Given the description of an element on the screen output the (x, y) to click on. 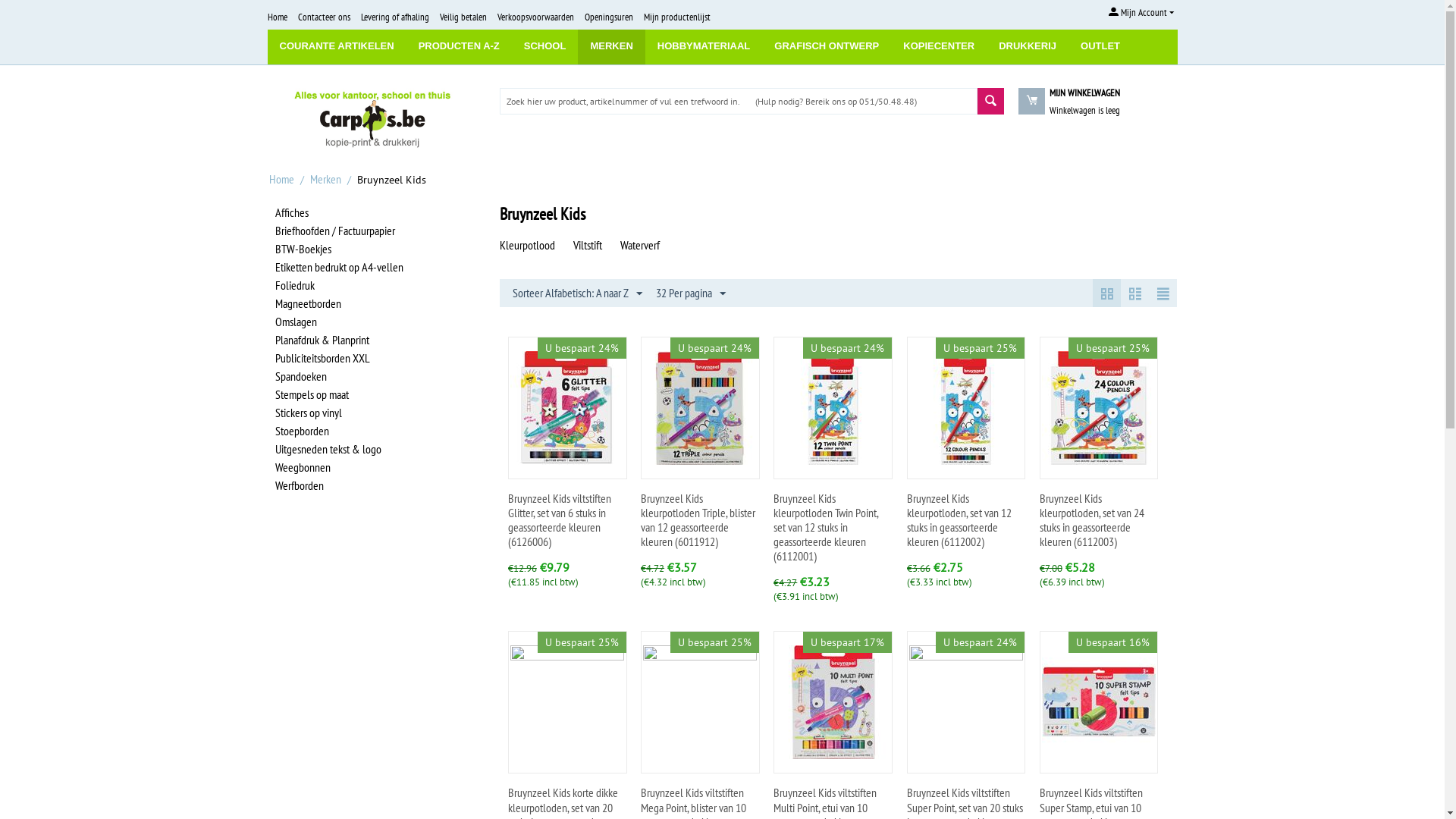
Publiciteitsborden XXL Element type: text (321, 357)
Verkoopsvoorwaarden Element type: text (535, 16)
Stickers op vinyl Element type: text (307, 412)
Affiches Element type: text (290, 211)
Foliedruk Element type: text (293, 284)
SCHOOL Element type: text (544, 46)
Magneetborden Element type: text (307, 302)
Stoepborden Element type: text (301, 430)
MIJN WINKELWAGEN
Winkelwagen is leeg Element type: text (1082, 109)
Planafdruk & Planprint Element type: text (321, 339)
Werfborden Element type: text (298, 484)
Viltstift Element type: text (587, 243)
BTW-Boekjes Element type: text (302, 248)
Stempels op maat Element type: text (311, 393)
Kleurpotlood Element type: text (527, 243)
GRAFISCH ONTWERP Element type: text (826, 46)
Omslagen Element type: text (295, 321)
PRODUCTEN A-Z Element type: text (458, 46)
Weegbonnen Element type: text (301, 466)
Etiketten bedrukt op A4-vellen Element type: text (338, 266)
Openingsuren Element type: text (607, 16)
COURANTE ARTIKELEN Element type: text (335, 46)
Contacteer ons Element type: text (323, 16)
Spandoeken Element type: text (300, 375)
Sorteer Alfabetisch: A naar Z Element type: text (577, 293)
Mijn productenlijst Element type: text (676, 16)
Merken Element type: text (324, 178)
Levering of afhaling Element type: text (394, 16)
KOPIECENTER Element type: text (938, 46)
Home Element type: text (280, 178)
32 Per pagina Element type: text (690, 293)
Zoekopdracht Element type: hover (990, 100)
Briefhoofden / Factuurpapier Element type: text (334, 230)
OUTLET Element type: text (1100, 46)
Waterverf Element type: text (639, 243)
MERKEN Element type: text (610, 46)
Veilig betalen Element type: text (462, 16)
Home Element type: text (276, 16)
Uitgesneden tekst & logo Element type: text (327, 448)
Mijn Account Element type: text (1141, 12)
DRUKKERIJ Element type: text (1027, 46)
HOBBYMATERIAAL Element type: text (703, 46)
